Given the description of an element on the screen output the (x, y) to click on. 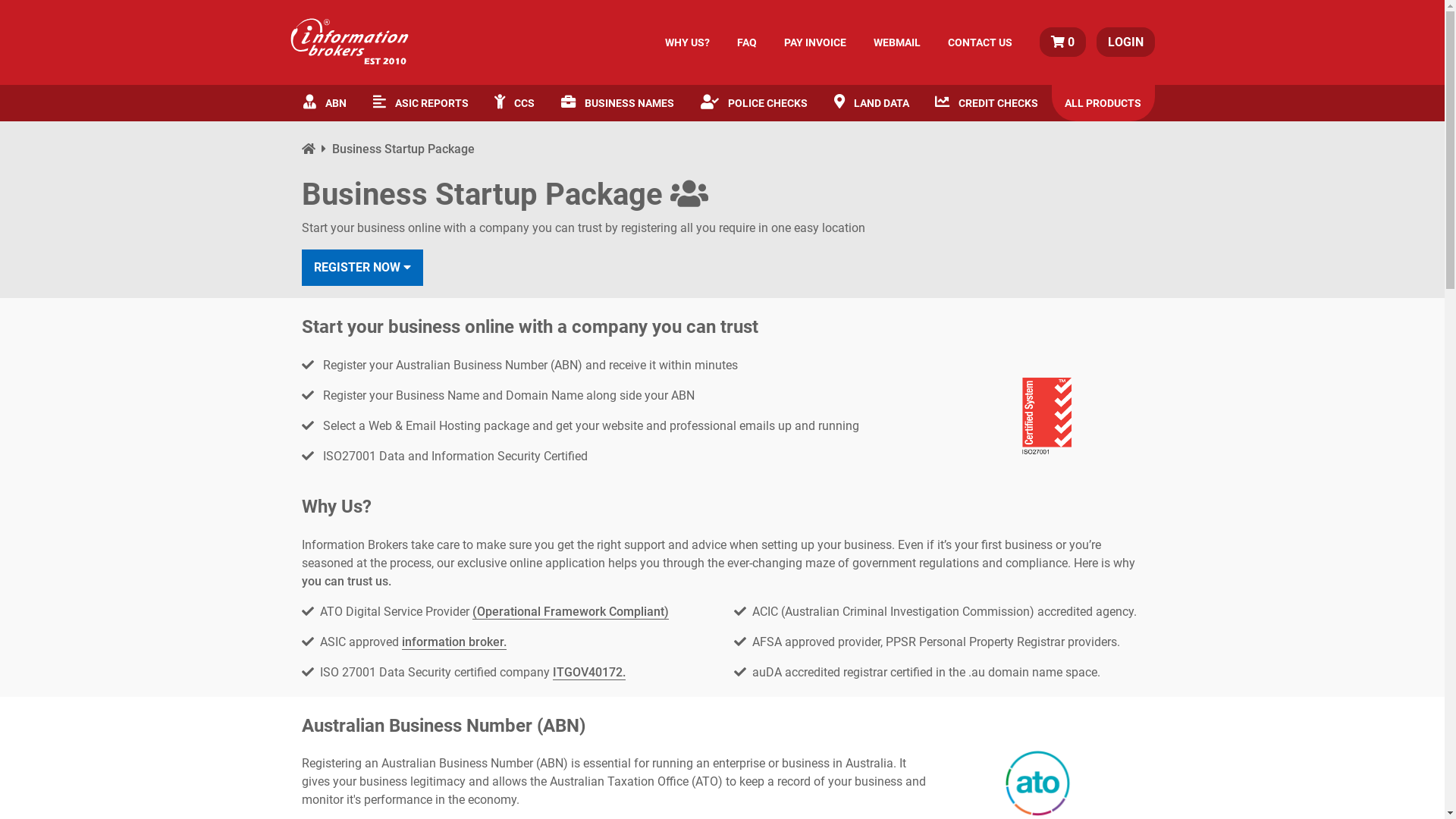
WHY US? Element type: text (686, 42)
POLICE CHECKS Element type: text (753, 102)
information broker. Element type: text (453, 641)
CONTACT US Element type: text (979, 42)
 0 Element type: text (1063, 41)
REGISTER NOW Element type: text (362, 267)
BUSINESS NAMES Element type: text (617, 102)
ALL PRODUCTS Element type: text (1102, 102)
PAY INVOICE Element type: text (814, 42)
LOGIN Element type: text (1125, 41)
WEBMAIL Element type: text (896, 42)
CCS Element type: text (514, 102)
ITGOV40172. Element type: text (588, 672)
(Operational Framework Compliant) Element type: text (569, 611)
ASIC REPORTS Element type: text (420, 102)
Homepage Element type: hover (316, 148)
ABN Element type: text (324, 102)
FAQ Element type: text (746, 42)
CREDIT CHECKS Element type: text (986, 102)
LAND DATA Element type: text (871, 102)
